Given the description of an element on the screen output the (x, y) to click on. 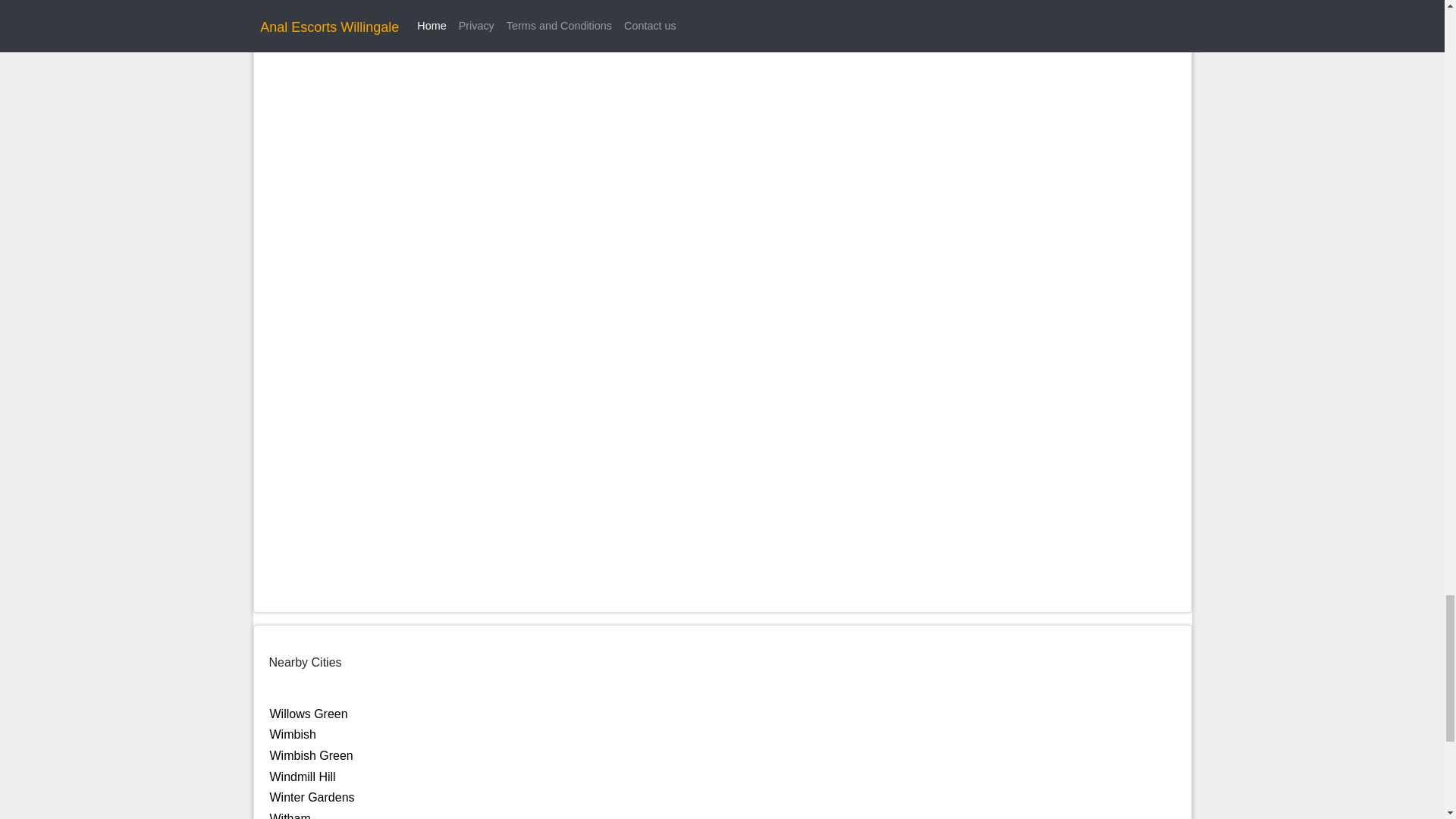
Wimbish (292, 734)
Witham (290, 815)
Wimbish Green (311, 755)
Windmill Hill (302, 776)
Willows Green (308, 713)
Winter Gardens (312, 797)
